Given the description of an element on the screen output the (x, y) to click on. 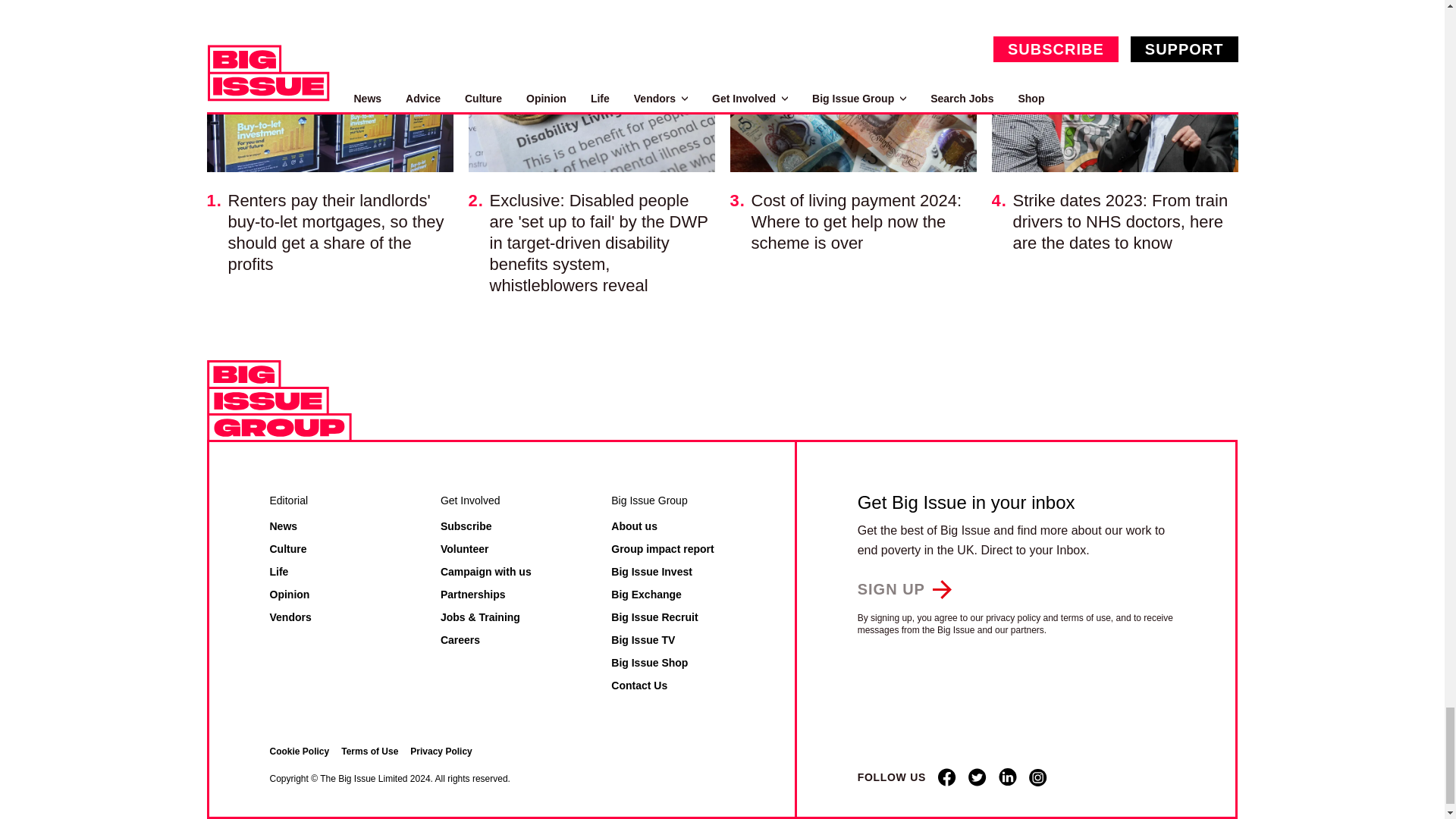
Button (904, 588)
